Given the description of an element on the screen output the (x, y) to click on. 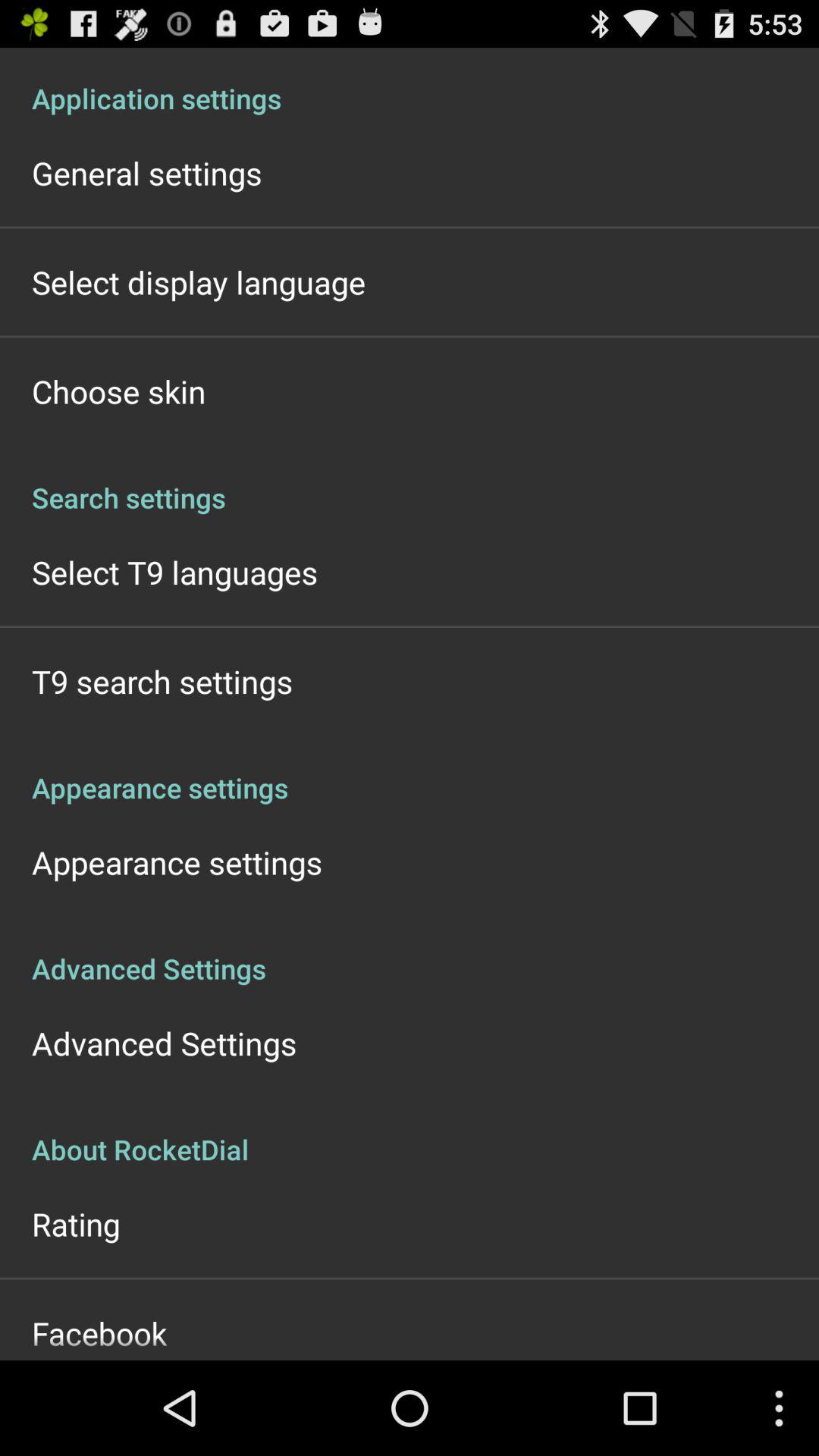
scroll until the application settings (409, 82)
